Given the description of an element on the screen output the (x, y) to click on. 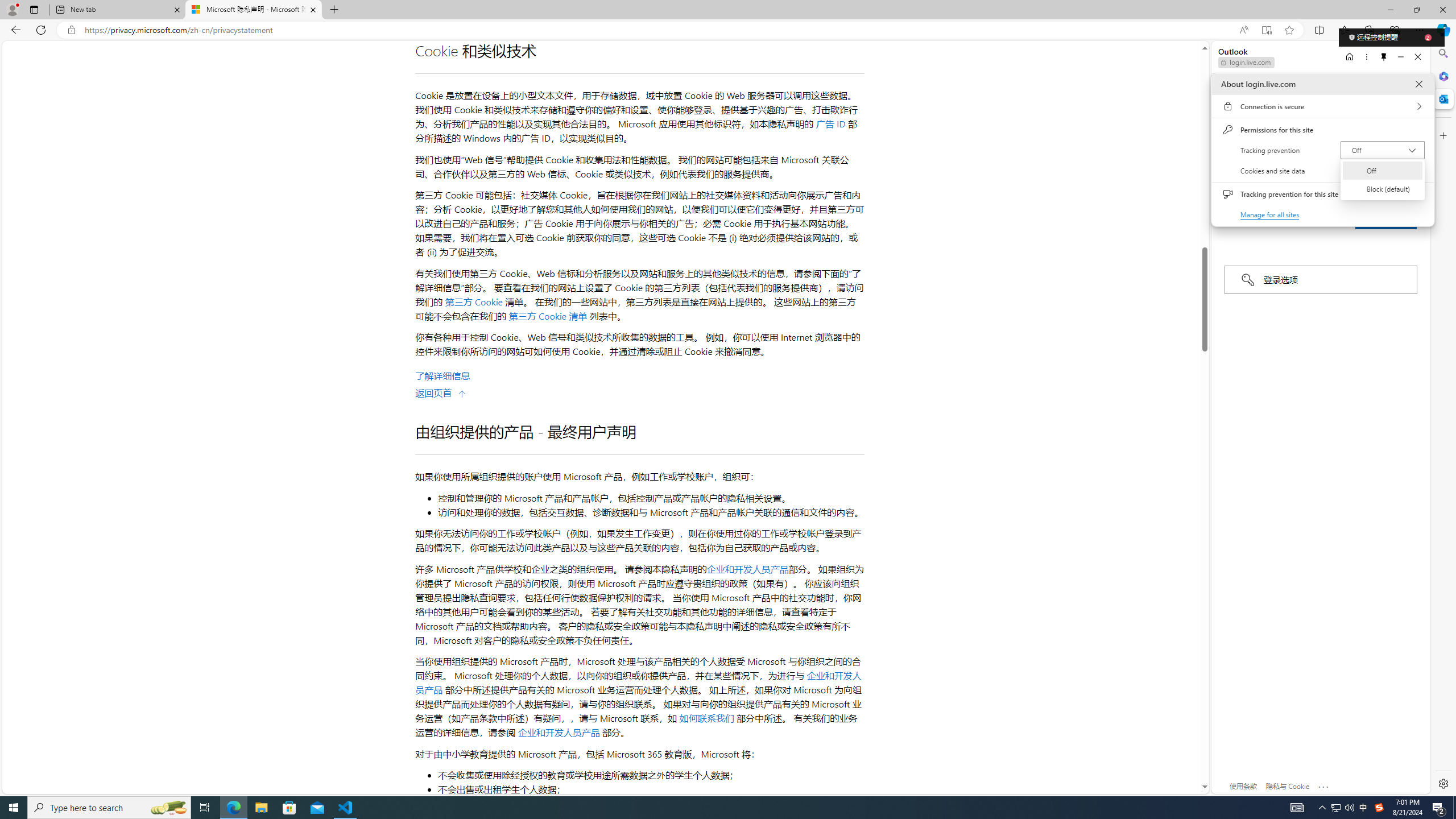
Running applications (707, 807)
Visual Studio Code - 1 running window (345, 807)
Action Center, 2 new notifications (1439, 807)
Cookies and site data (1322, 170)
User Promoted Notification Area (1342, 807)
Tracking prevention for this site (Balanced) (1413, 193)
AutomationID: 4105 (1297, 807)
Show desktop (1454, 807)
Microsoft Edge - 1 running window (233, 807)
About login.live.com (1418, 83)
Manage for all sites (1270, 214)
Task View (204, 807)
